Given the description of an element on the screen output the (x, y) to click on. 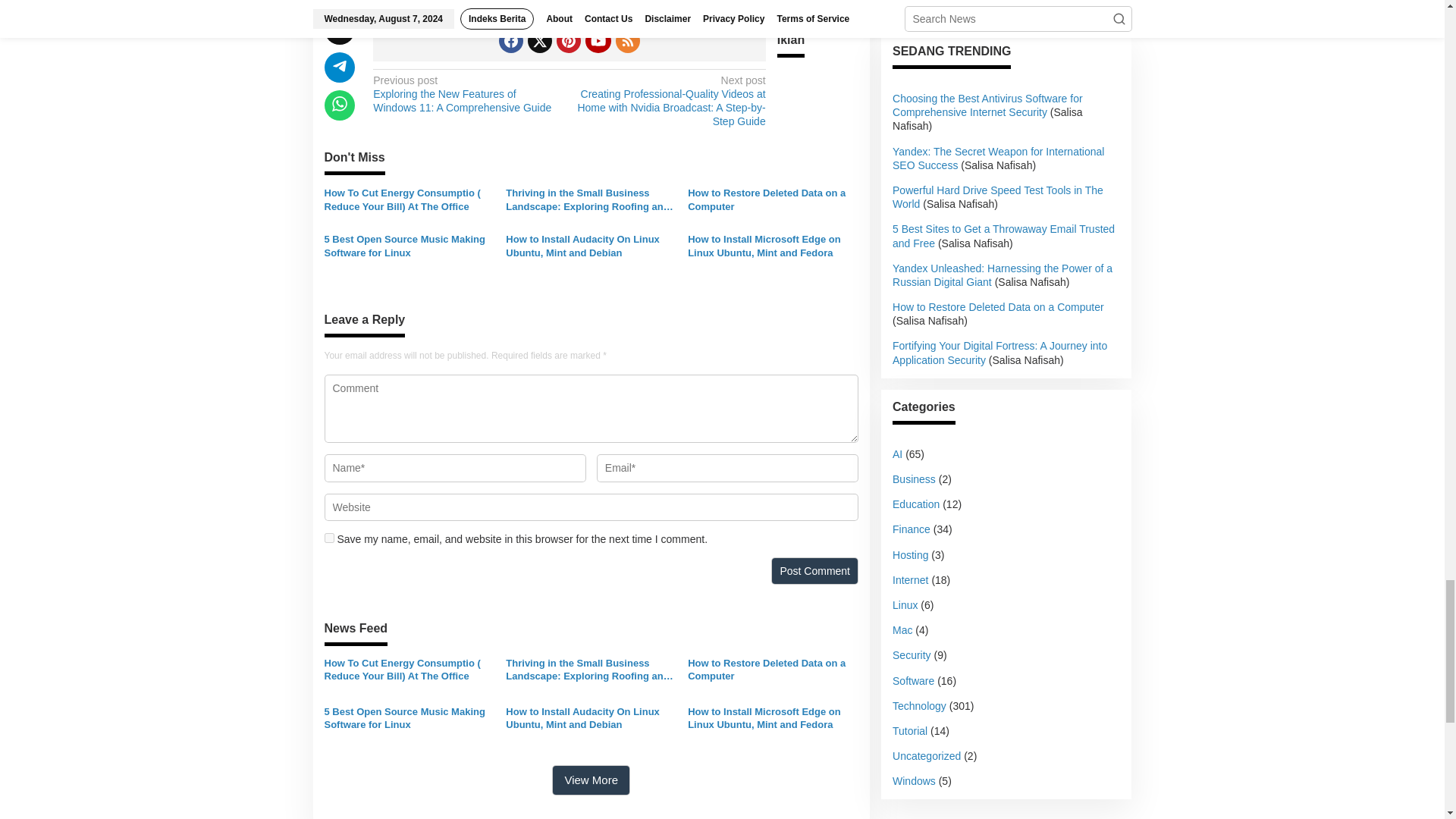
Post Comment (815, 570)
yes (329, 537)
